Given the description of an element on the screen output the (x, y) to click on. 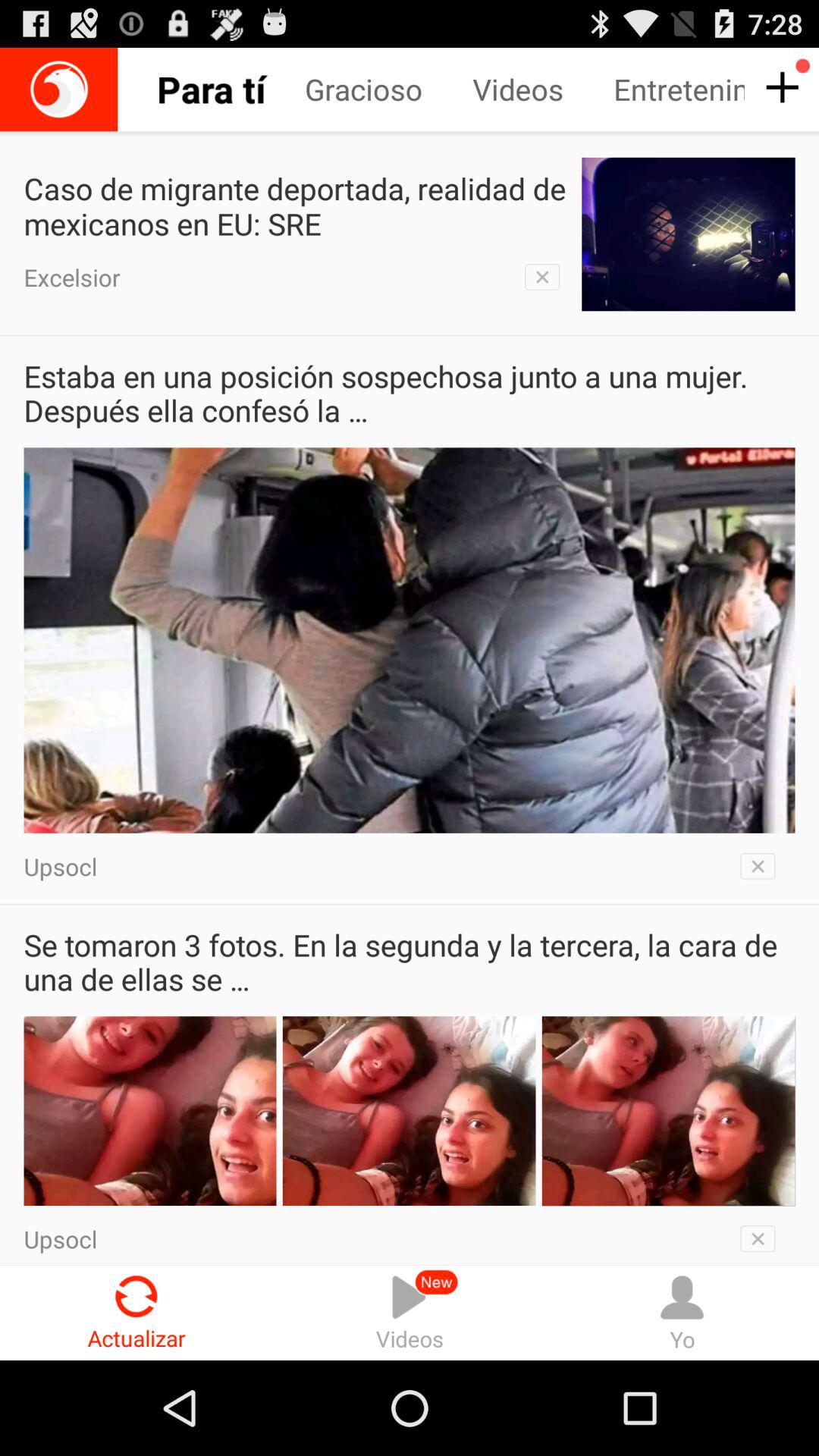
jump to yo item (682, 1312)
